Given the description of an element on the screen output the (x, y) to click on. 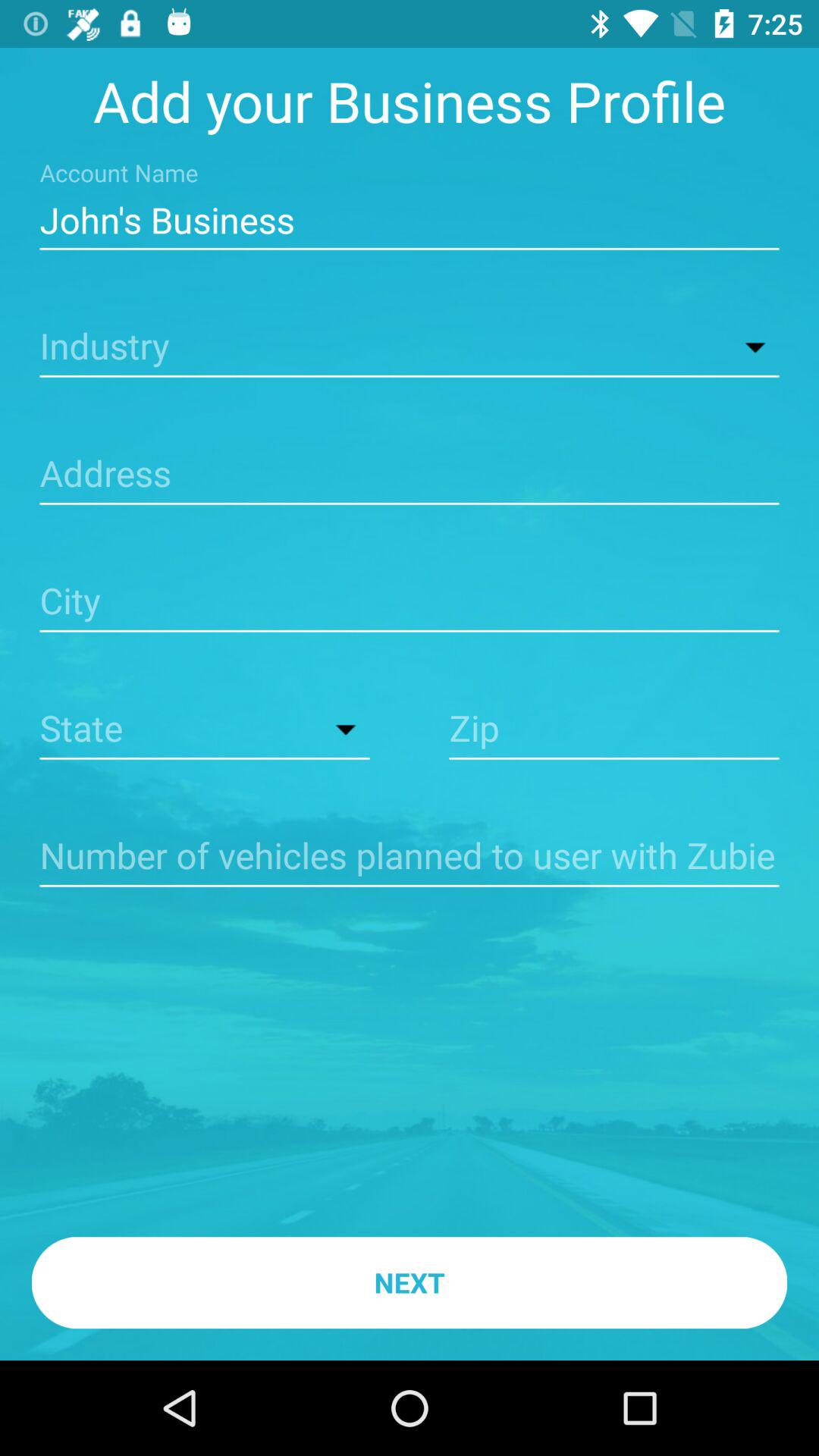
select state option (204, 730)
